Given the description of an element on the screen output the (x, y) to click on. 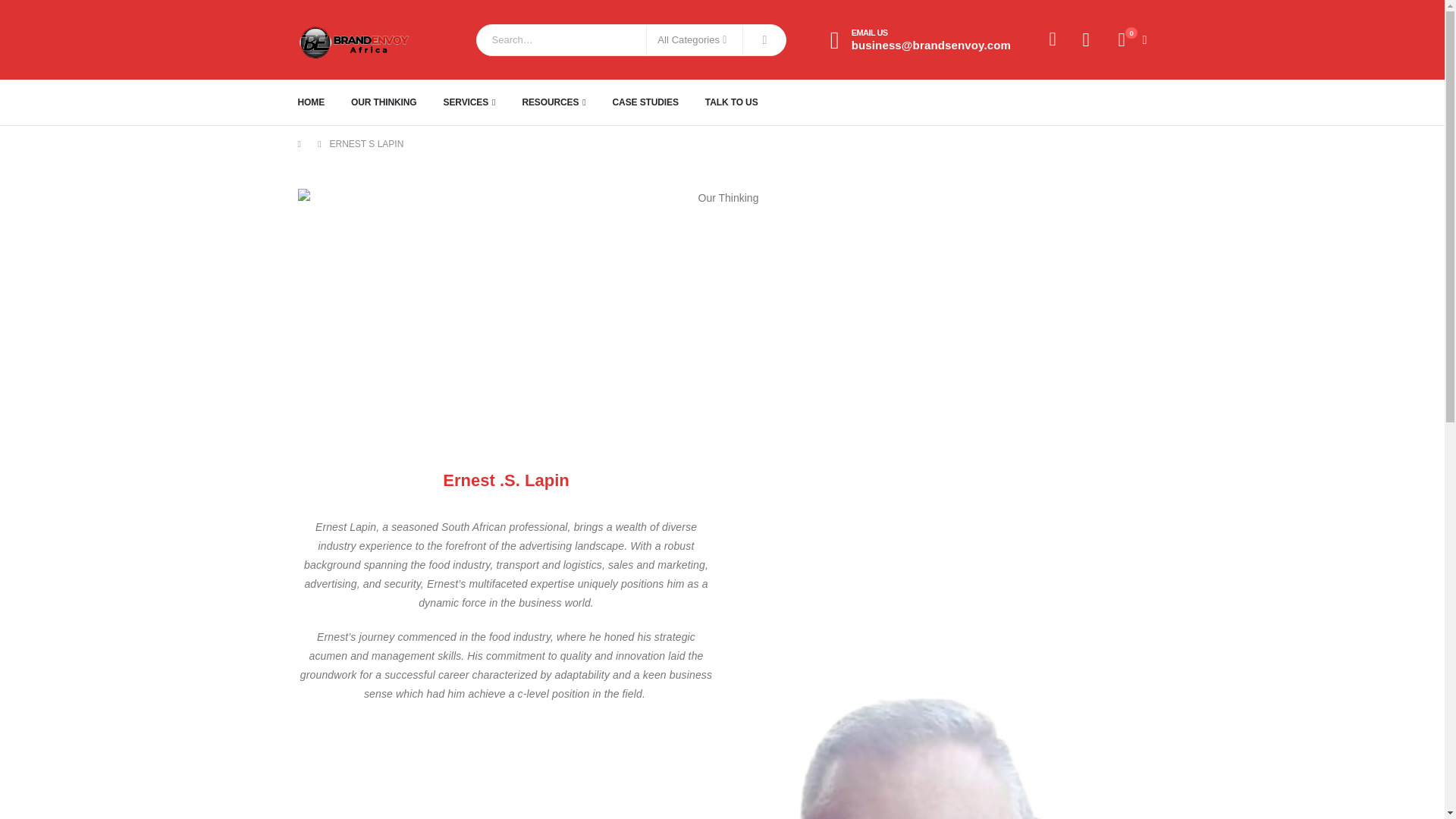
Search (764, 39)
HOME (323, 102)
OUR THINKING (396, 102)
SERVICES (482, 102)
Advertisement (505, 769)
TALK TO US (744, 102)
CASE STUDIES (658, 102)
0 (1085, 39)
RESOURCES (566, 102)
Wishlist (1085, 39)
